Given the description of an element on the screen output the (x, y) to click on. 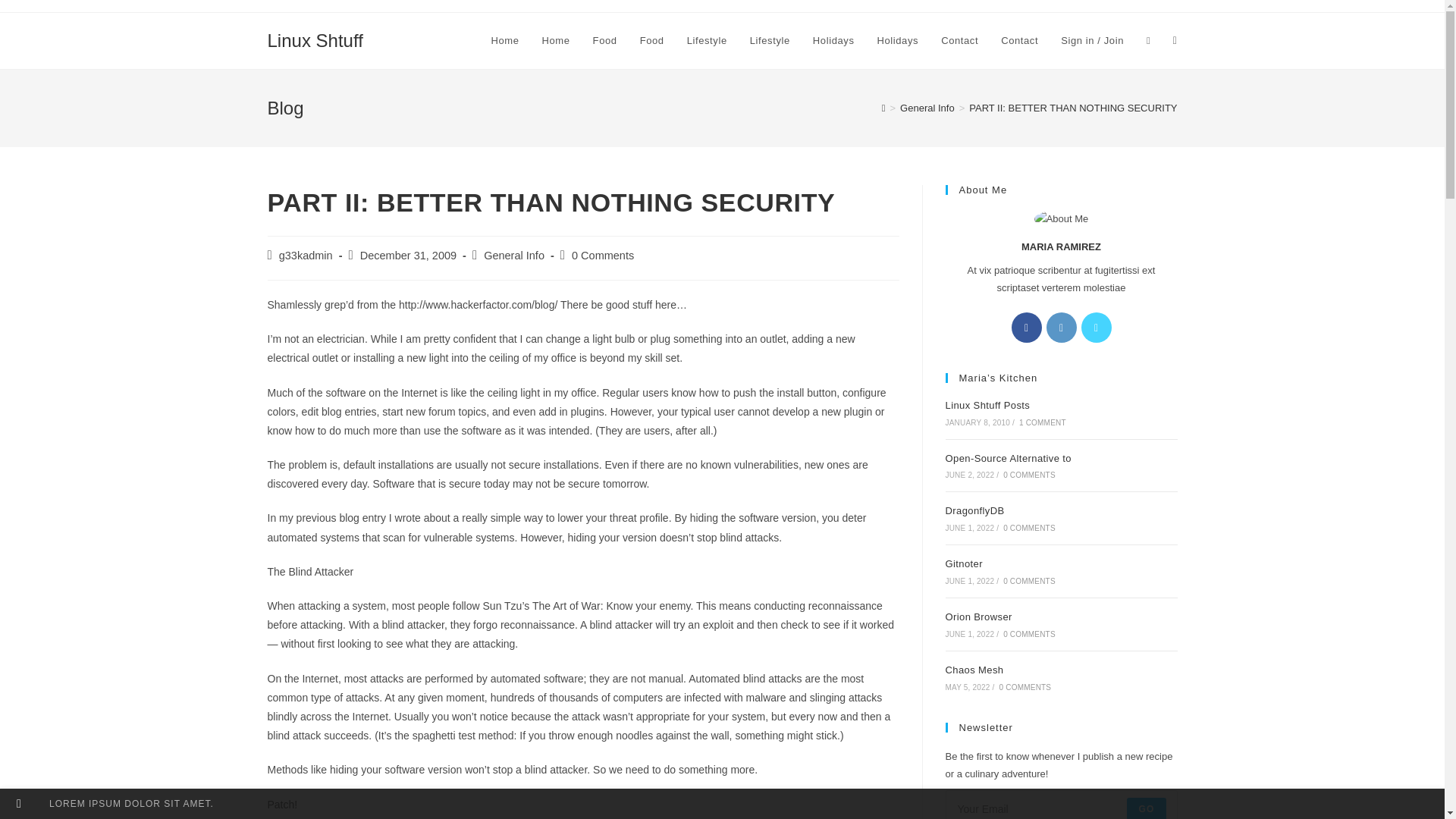
Contact (960, 40)
Holidays (898, 40)
Linux Shtuff (314, 40)
Posts by g33kadmin (306, 255)
Contact (1019, 40)
PART II: BETTER THAN NOTHING SECURITY (1072, 107)
General Info (513, 255)
g33kadmin (306, 255)
Lifestyle (706, 40)
General Info (927, 107)
